Given the description of an element on the screen output the (x, y) to click on. 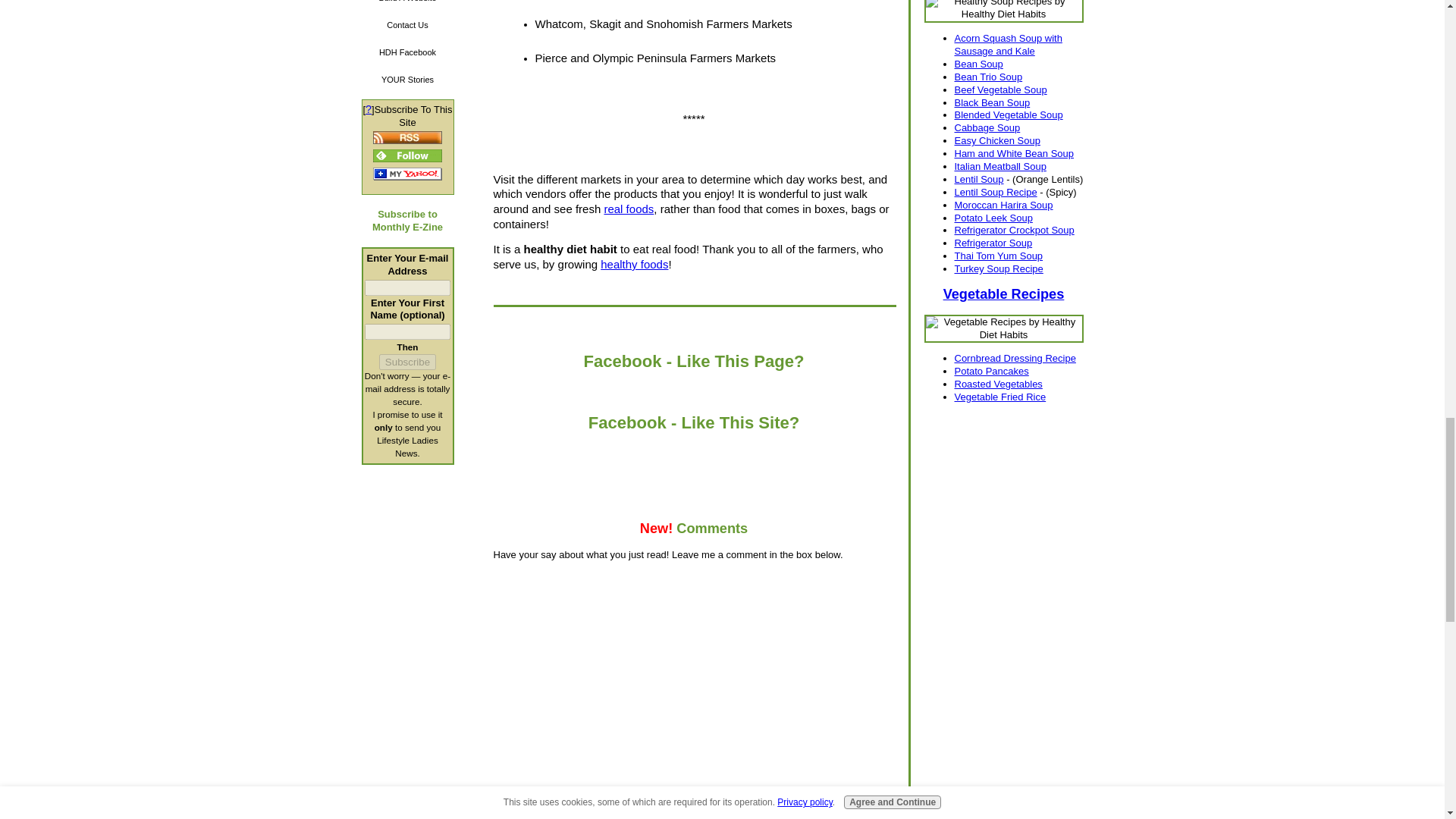
Vegetable Recipes by Healthy Diet Habits (1003, 328)
real foods (628, 208)
Healthy Soup Recipes by Healthy Diet Habits (1003, 11)
Subscribe (406, 361)
healthy foods (633, 264)
